Given the description of an element on the screen output the (x, y) to click on. 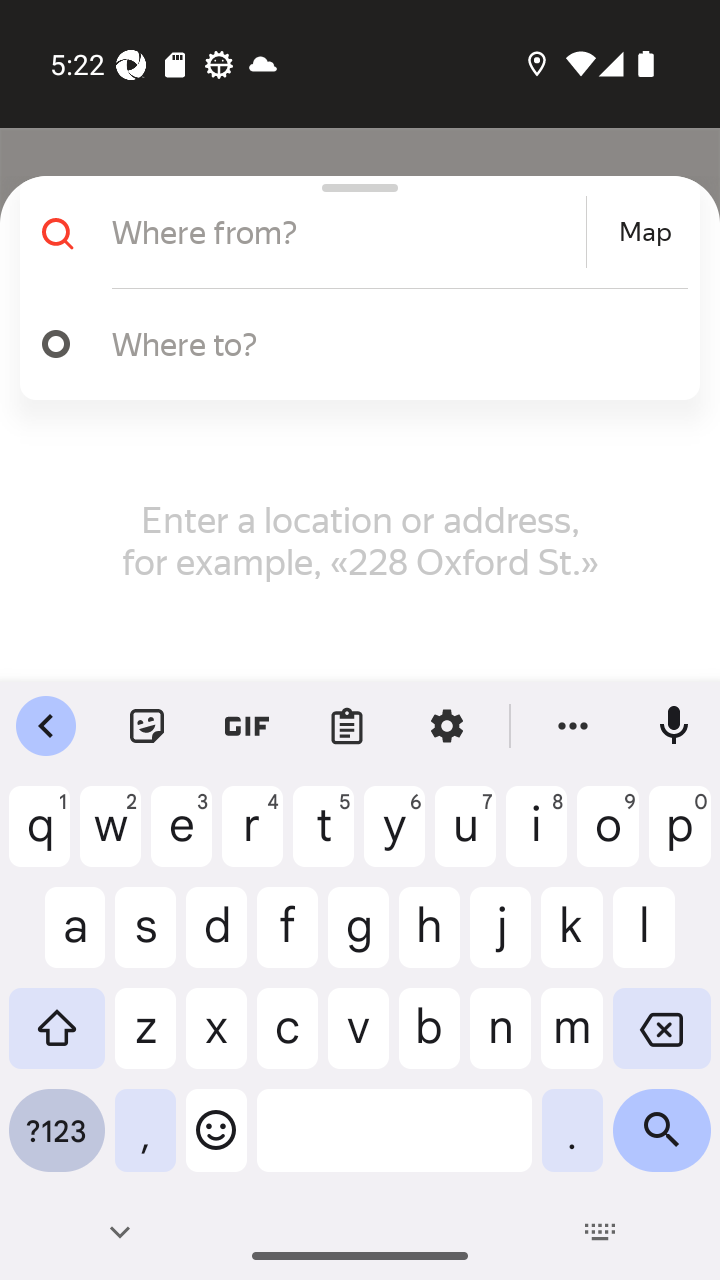
Where from? Map Map (352, 232)
Map (645, 232)
Where from? (346, 232)
Where to? (352, 343)
Where to? (390, 343)
